Given the description of an element on the screen output the (x, y) to click on. 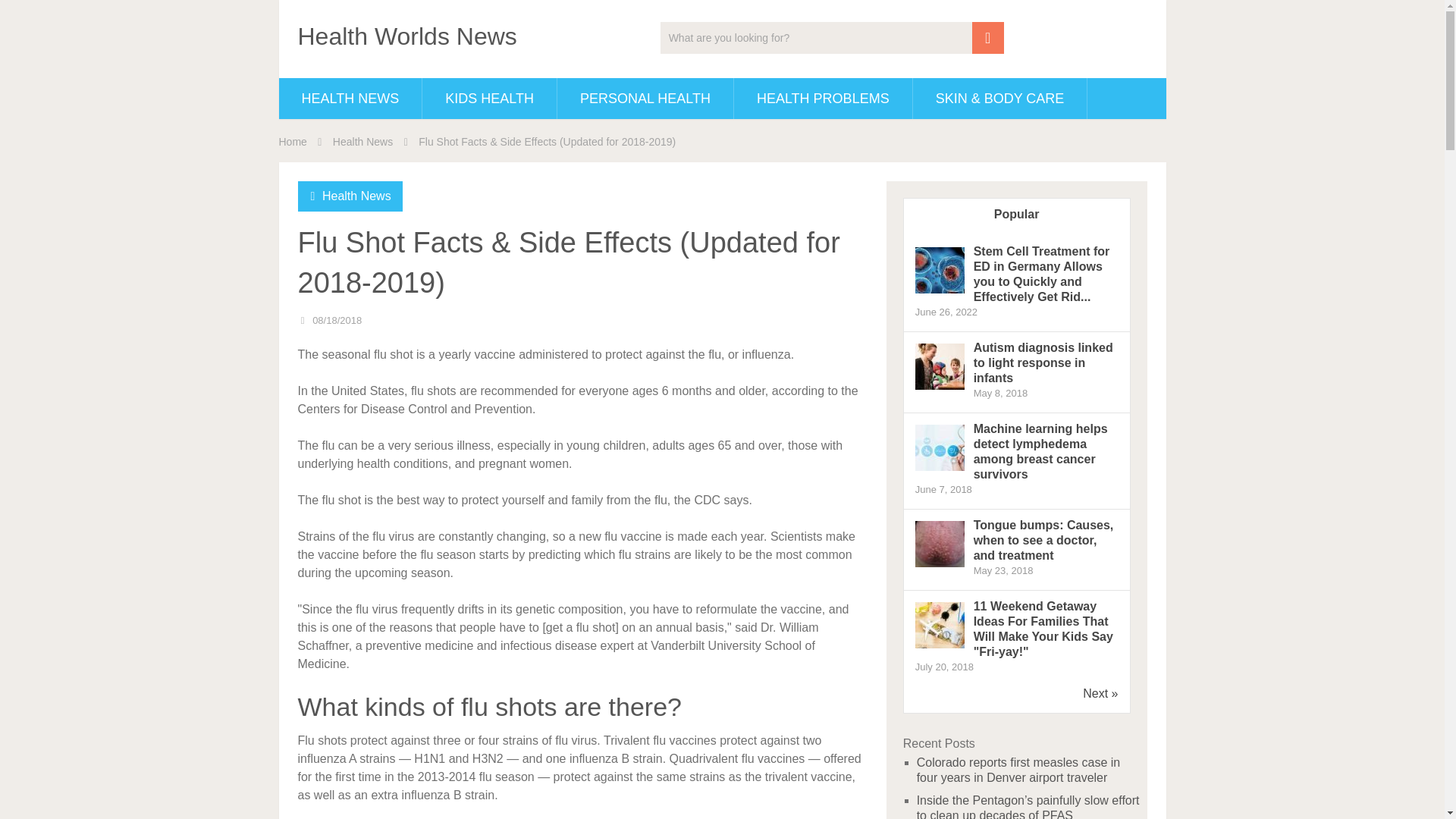
What are you looking for? (832, 38)
Popular (1016, 215)
KIDS HEALTH (489, 97)
Health Worlds News (406, 36)
Health News (363, 141)
HEALTH PROBLEMS (822, 97)
HEALTH NEWS (350, 97)
Health News (356, 195)
PERSONAL HEALTH (645, 97)
Autism diagnosis linked to light response in infants (939, 388)
Home (293, 141)
